Given the description of an element on the screen output the (x, y) to click on. 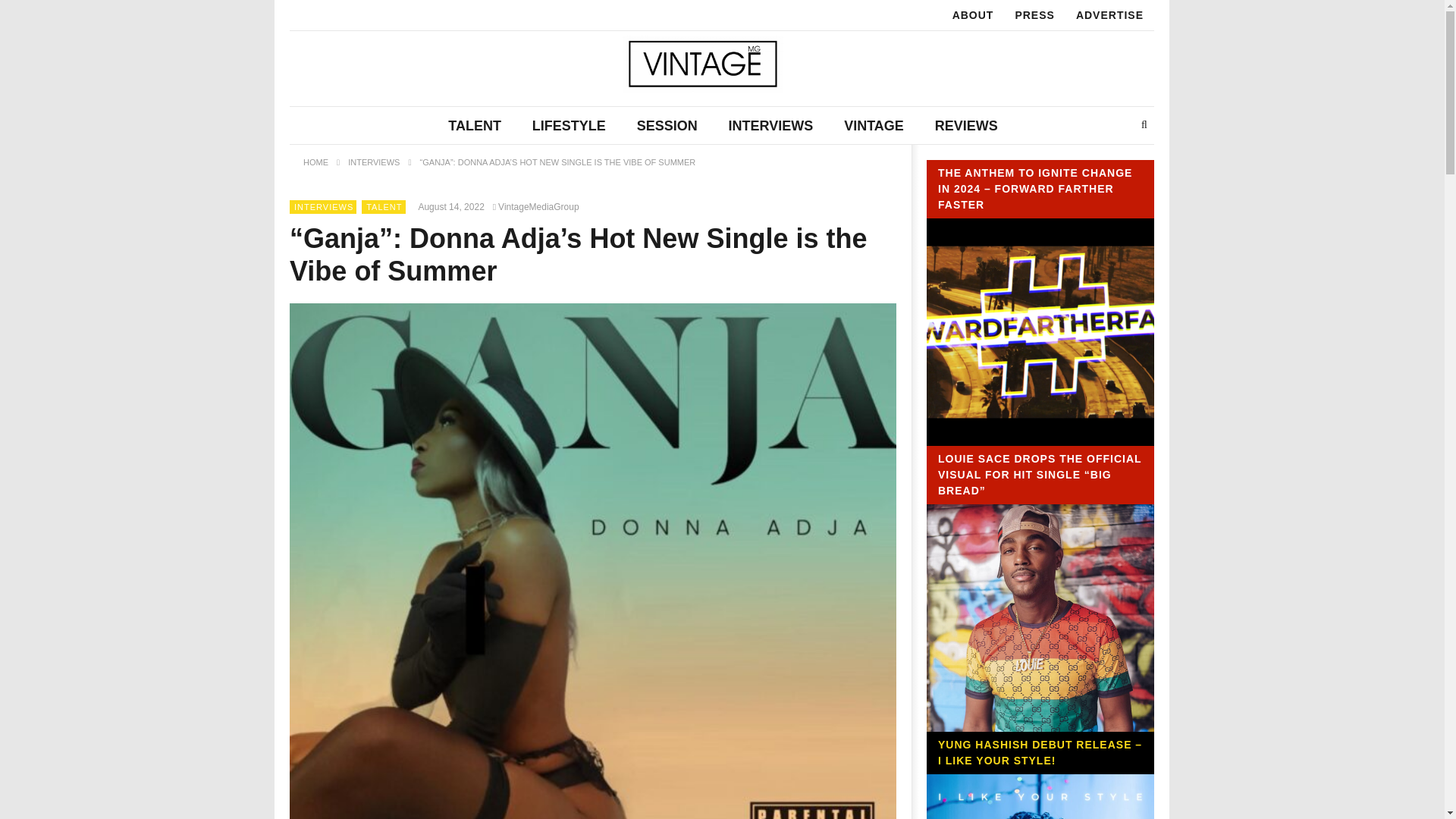
TALENT (474, 125)
INTERVIEWS (372, 162)
HOME (315, 162)
SESSION (667, 125)
INTERVIEWS (770, 125)
View all posts in Interviews (323, 205)
TALENT (383, 205)
Posts by VintageMediaGroup (539, 205)
View all posts in Talent (383, 205)
search (1129, 157)
PRESS (1034, 15)
August 14, 2022 (453, 205)
LIFESTYLE (568, 125)
VintageMediaGroup (539, 205)
ABOUT (973, 15)
